Given the description of an element on the screen output the (x, y) to click on. 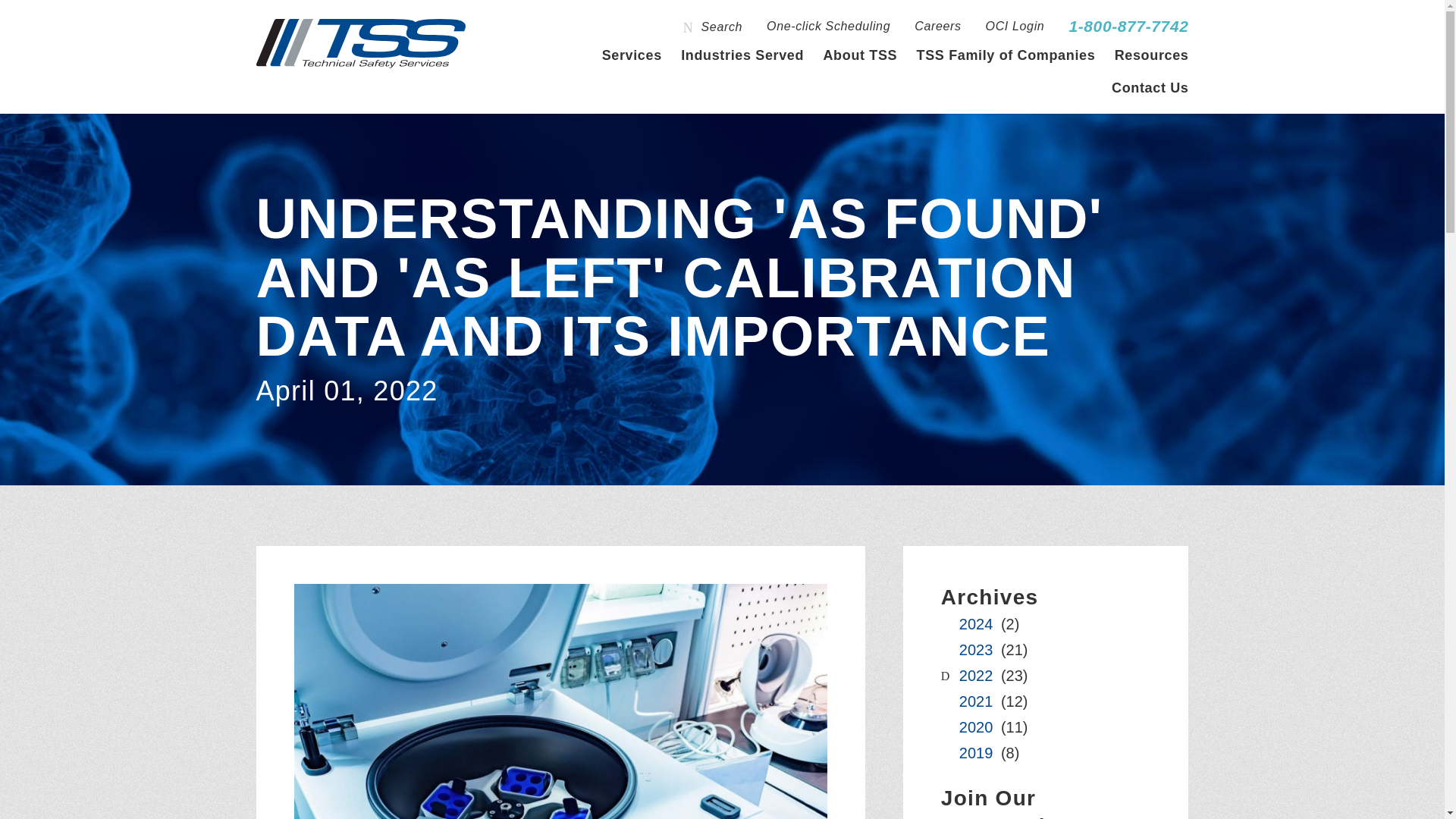
About TSS (859, 55)
Services (632, 55)
One-click Scheduling (828, 26)
Technical Safety Services LLC. (360, 42)
1-800-877-7742 (1128, 26)
Careers (937, 26)
Industries Served (742, 55)
OCI Login (1015, 26)
